Given the description of an element on the screen output the (x, y) to click on. 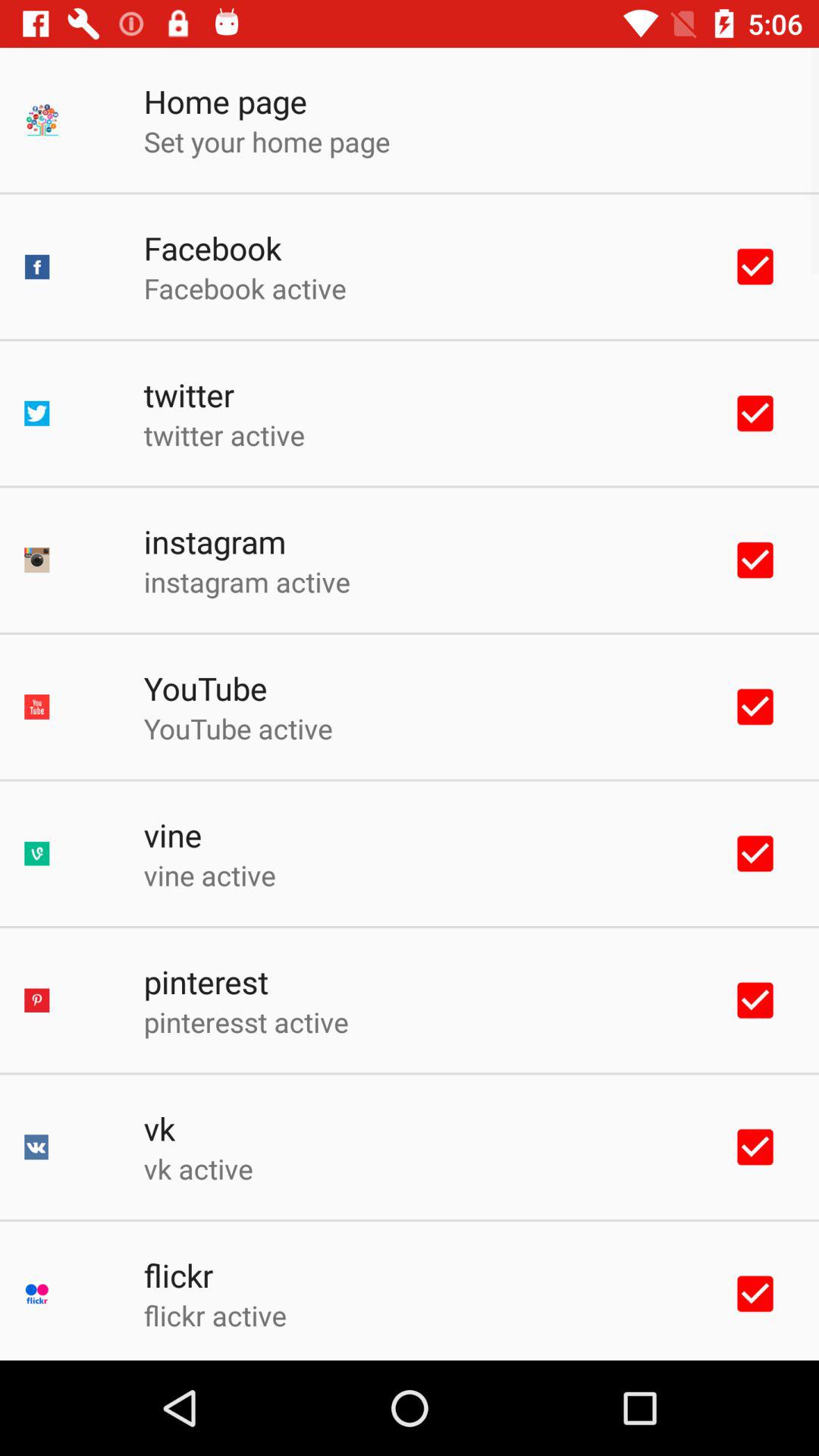
turn off flickr active app (214, 1315)
